Given the description of an element on the screen output the (x, y) to click on. 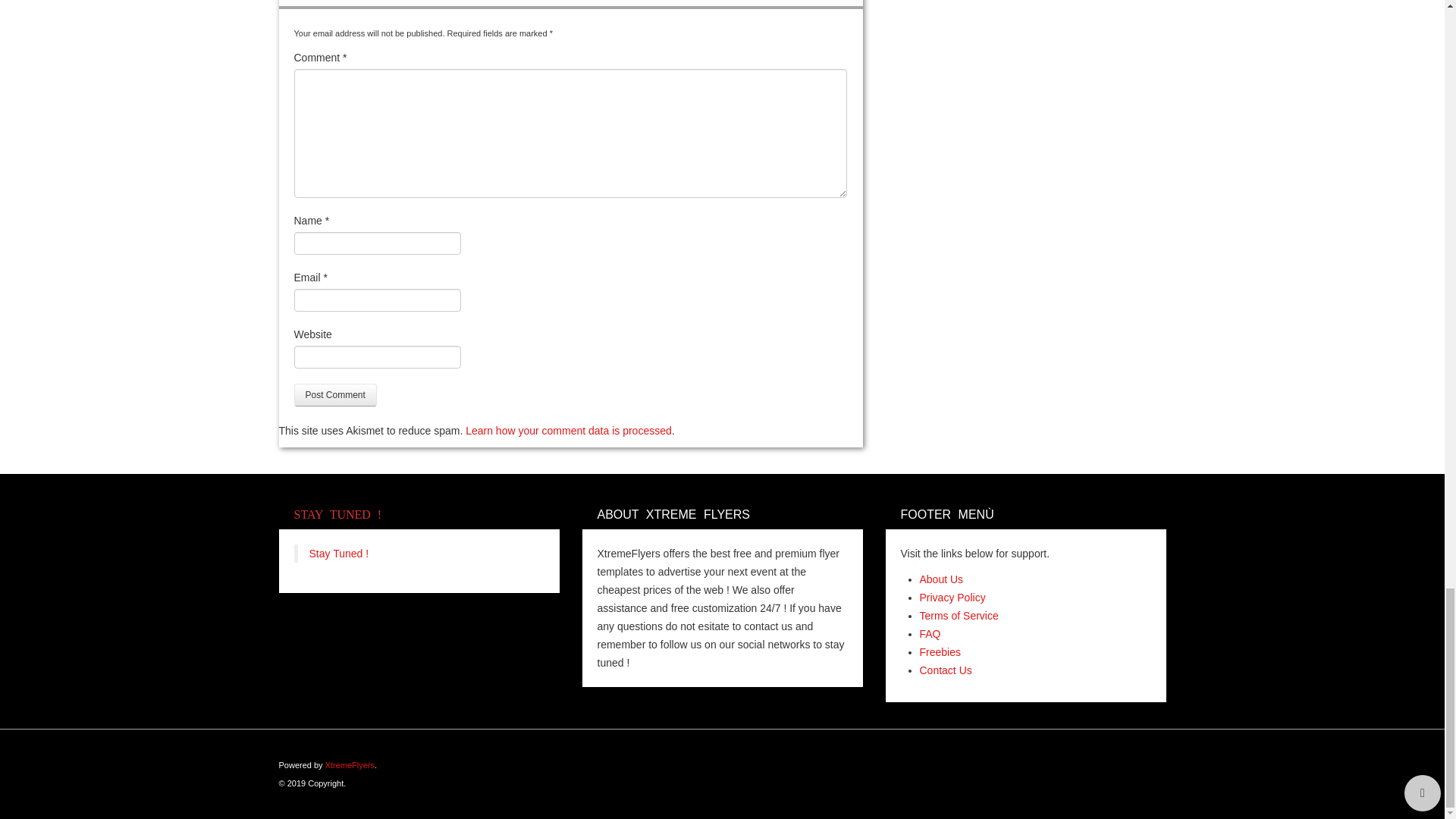
Post Comment (335, 395)
